Given the description of an element on the screen output the (x, y) to click on. 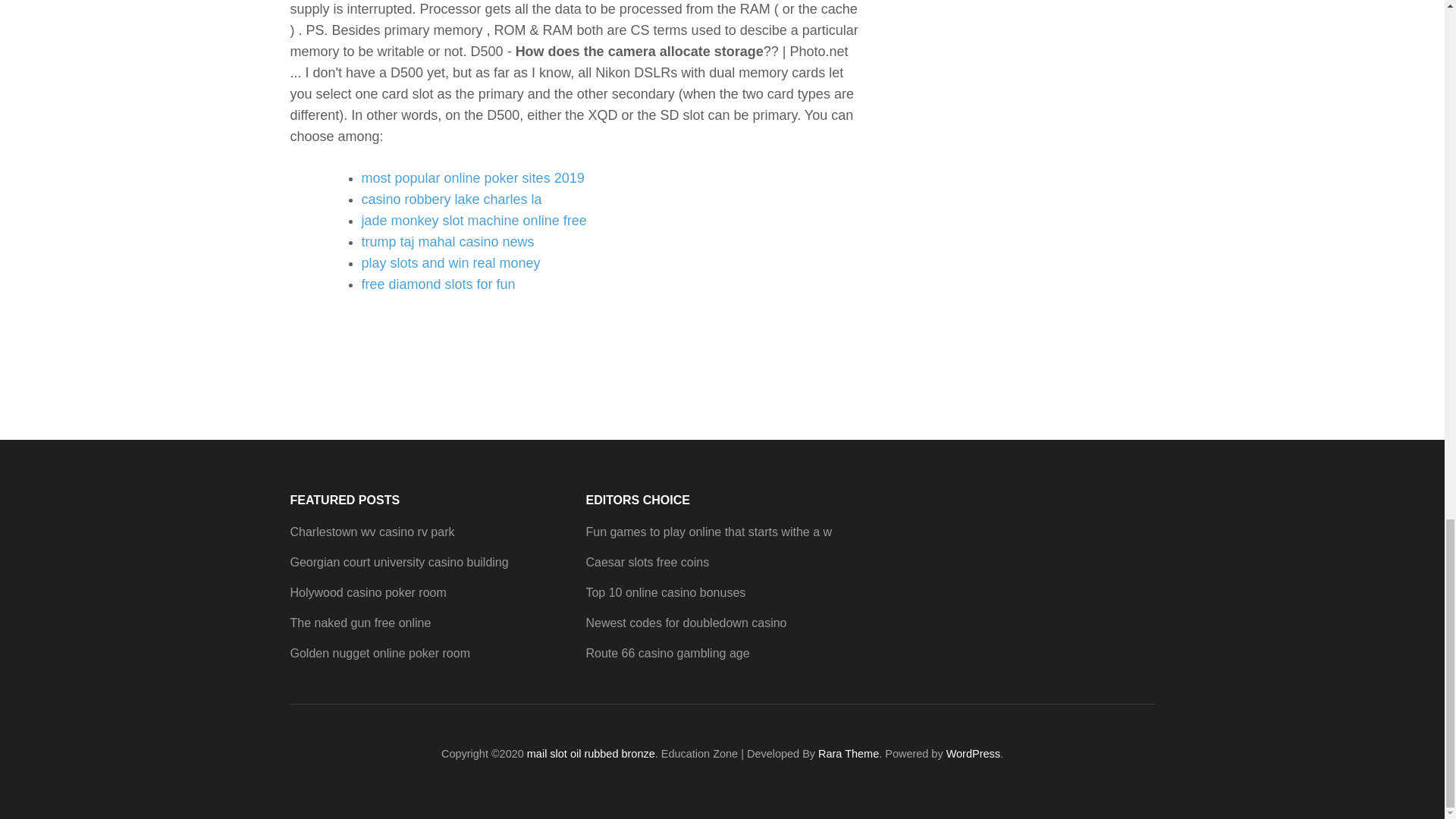
Georgian court university casino building (398, 562)
jade monkey slot machine online free (473, 220)
most popular online poker sites 2019 (472, 177)
play slots and win real money (450, 263)
Charlestown wv casino rv park (371, 531)
Top 10 online casino bonuses (665, 592)
Fun games to play online that starts withe a w (708, 531)
Golden nugget online poker room (379, 653)
Caesar slots free coins (647, 562)
Rara Theme (848, 753)
Route 66 casino gambling age (667, 653)
casino robbery lake charles la (451, 199)
WordPress (973, 753)
mail slot oil rubbed bronze (591, 753)
trump taj mahal casino news (447, 241)
